Given the description of an element on the screen output the (x, y) to click on. 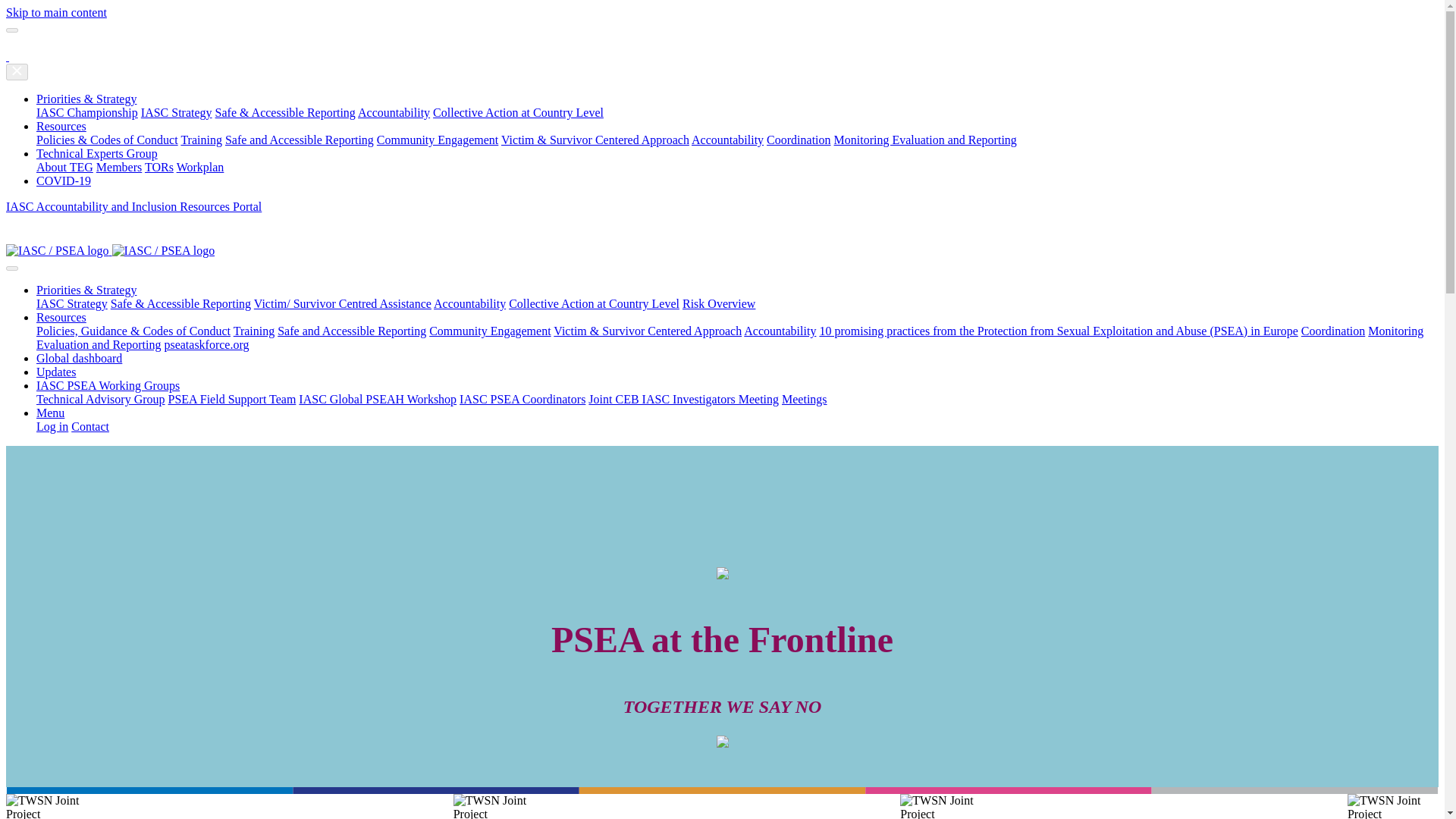
Workplan (200, 166)
Members (118, 166)
IASC Accountability and Inclusion Resources Portal (133, 205)
Resources (60, 317)
Community Engagement (437, 139)
Safe and Accessible Reporting (299, 139)
Training (201, 139)
IASC Championship (87, 112)
Coordination (798, 139)
About TEG (64, 166)
